Given the description of an element on the screen output the (x, y) to click on. 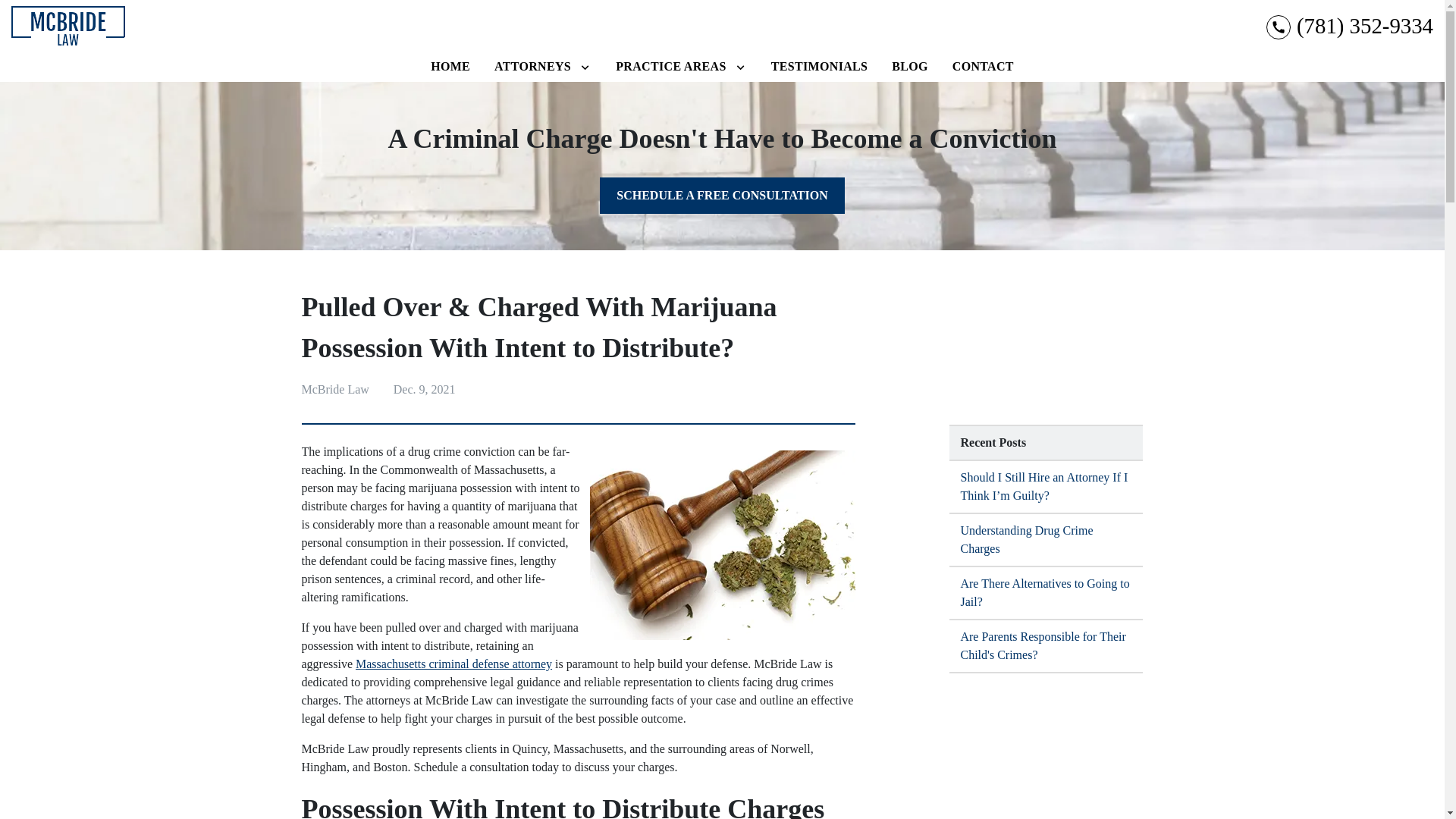
BLOG (909, 66)
Are There Alternatives to Going to Jail? (1045, 593)
CONTACT (983, 66)
ATTORNEYS (531, 66)
HOME (450, 66)
TESTIMONIALS (819, 66)
Massachusetts criminal defense attorney (453, 663)
SCHEDULE A FREE CONSULTATION (721, 195)
Understanding Drug Crime Charges (1045, 540)
PRACTICE AREAS (671, 66)
